Given the description of an element on the screen output the (x, y) to click on. 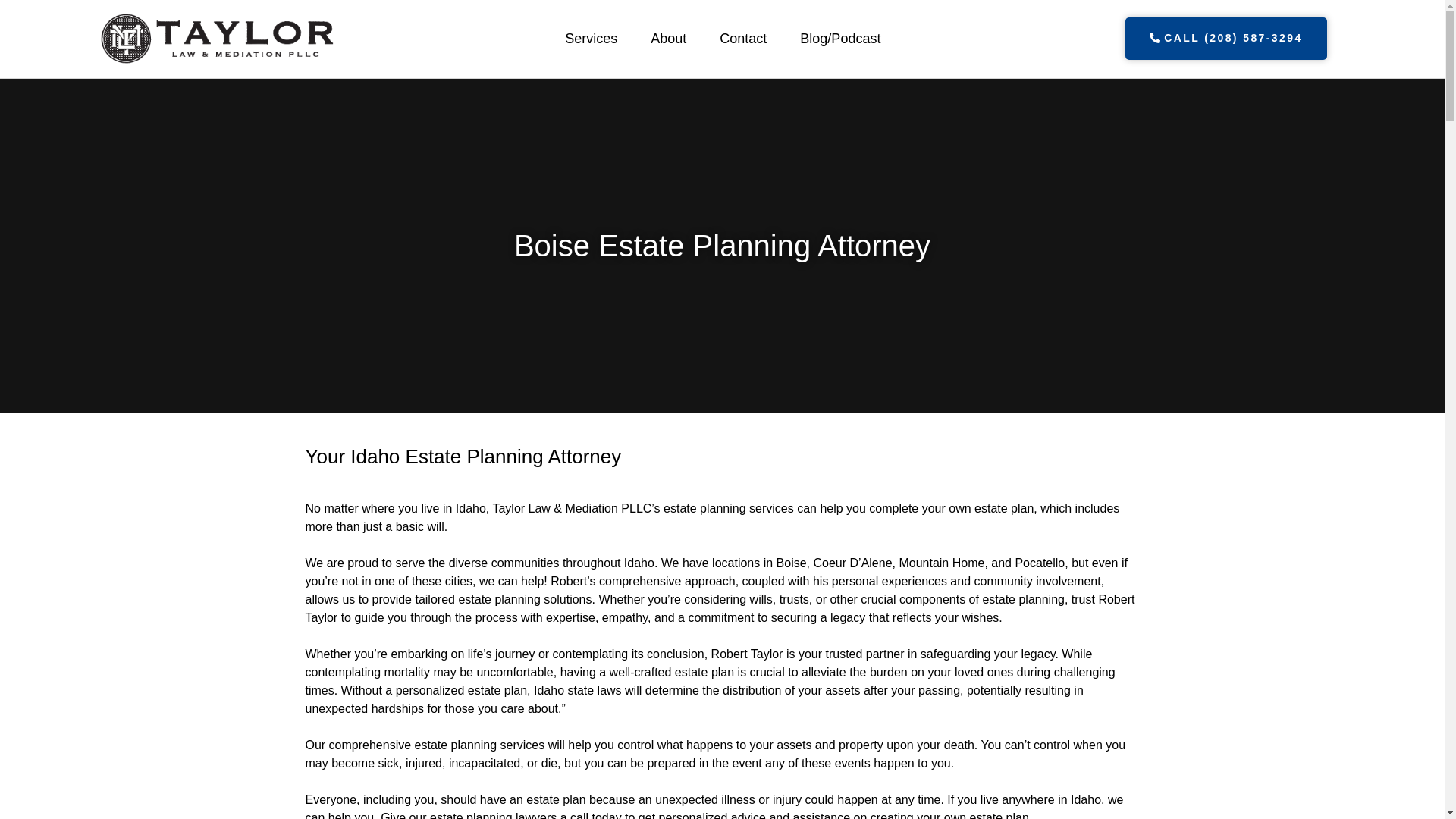
Services (590, 38)
About (668, 38)
Contact (743, 38)
